Given the description of an element on the screen output the (x, y) to click on. 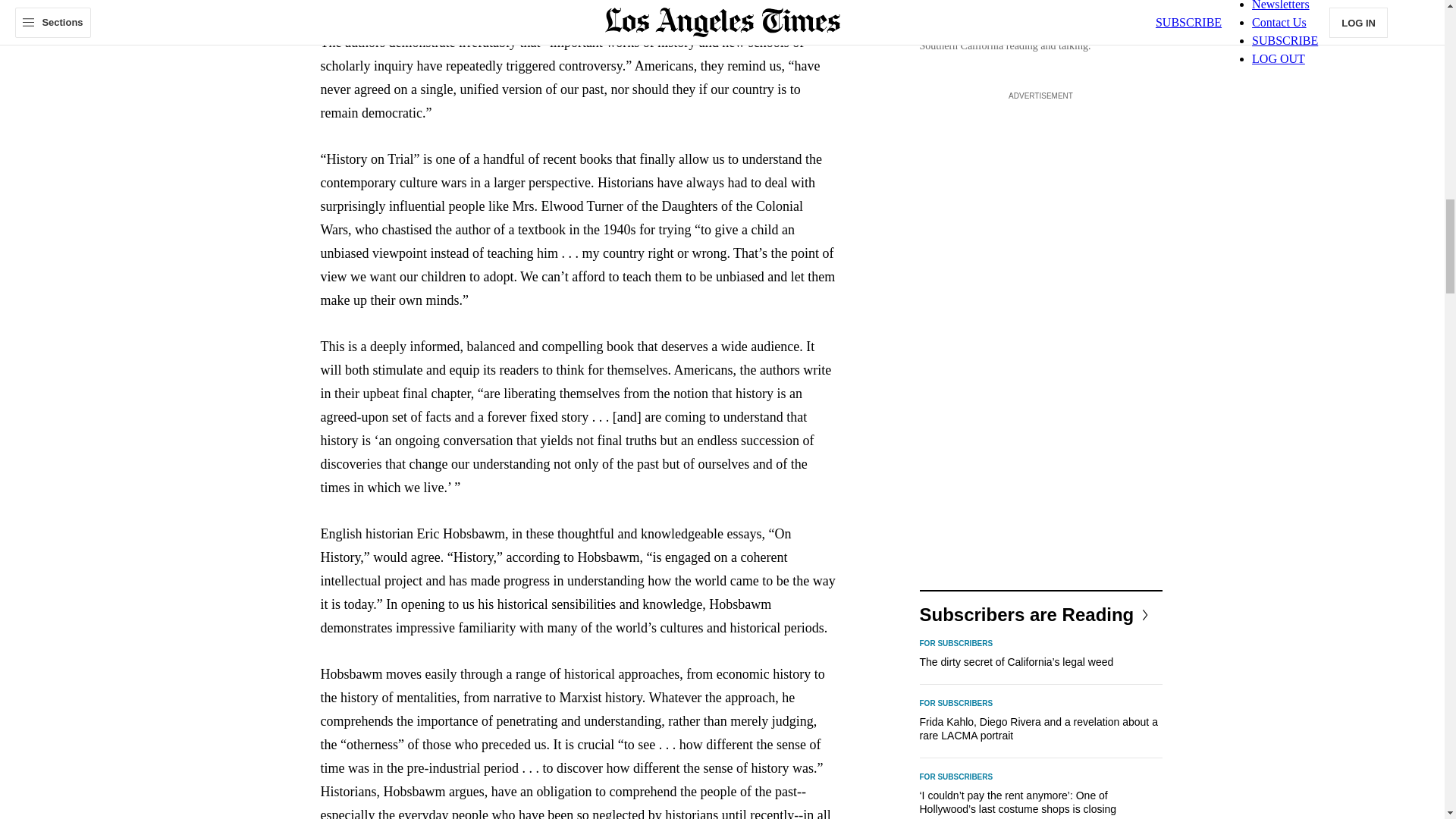
3rd party ad content (1040, 331)
